Given the description of an element on the screen output the (x, y) to click on. 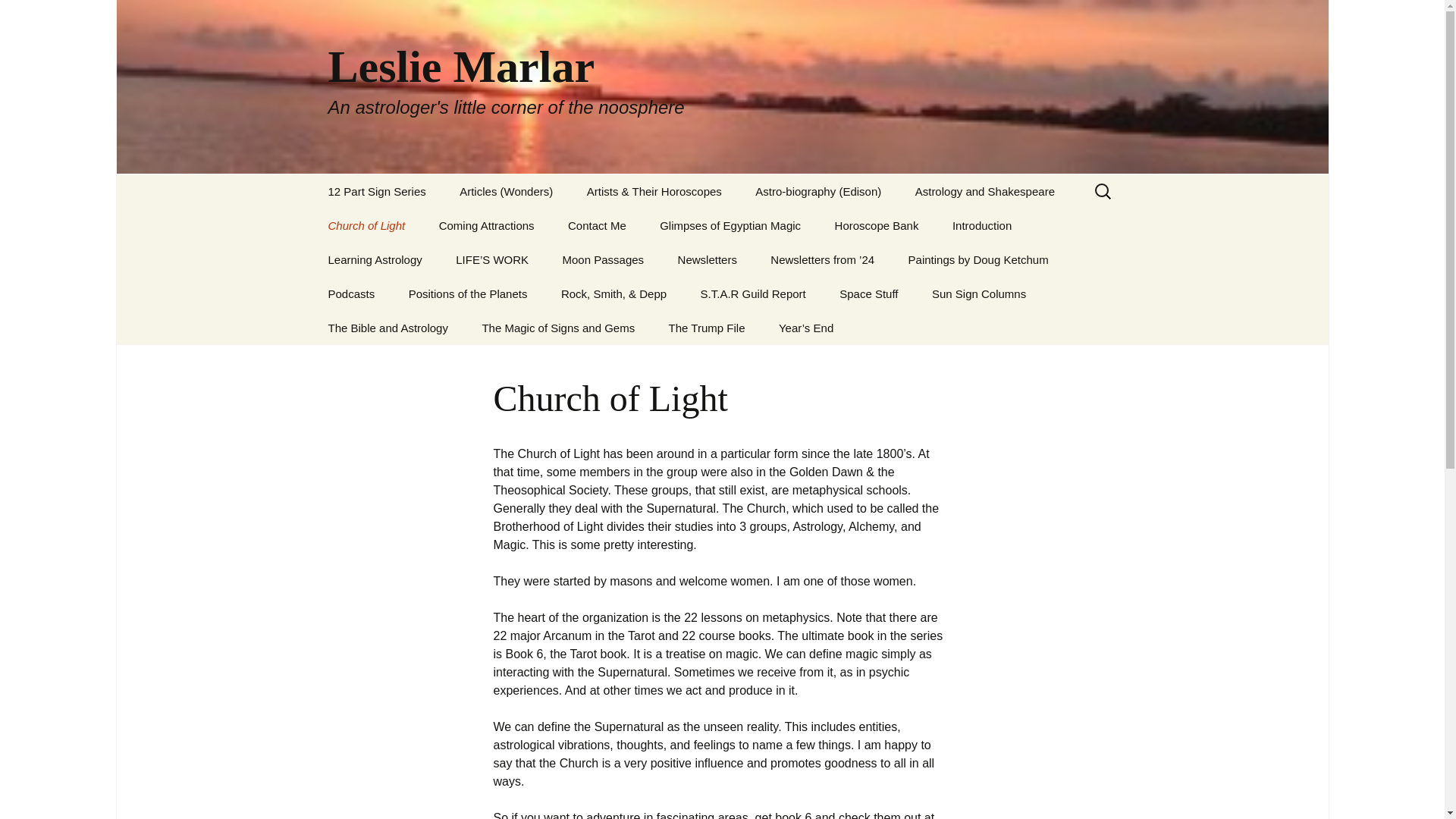
12 Part Sign Series (377, 191)
A Parting Gift (519, 225)
